Given the description of an element on the screen output the (x, y) to click on. 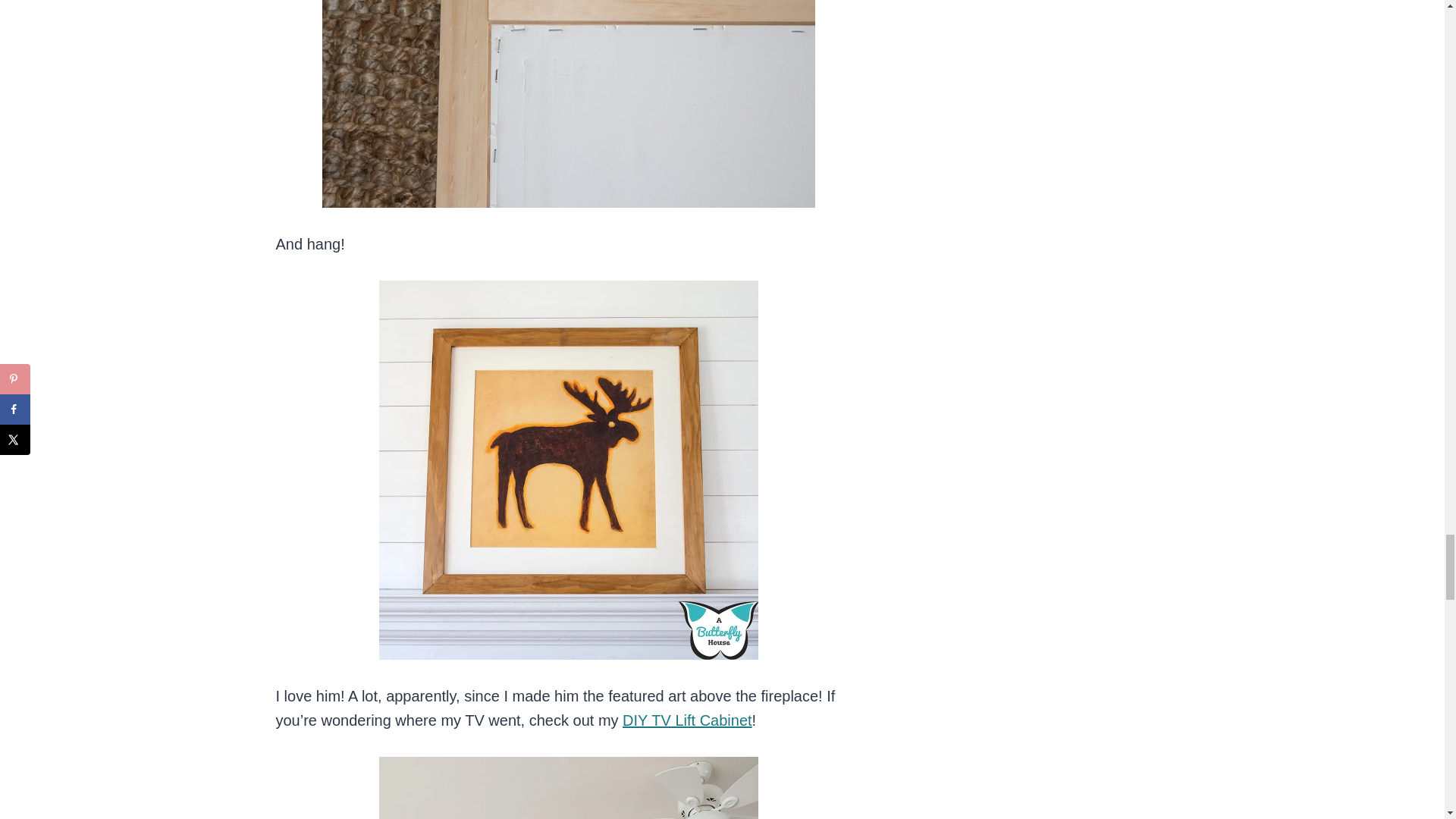
DIY TV Lift Cabinet (687, 719)
